Given the description of an element on the screen output the (x, y) to click on. 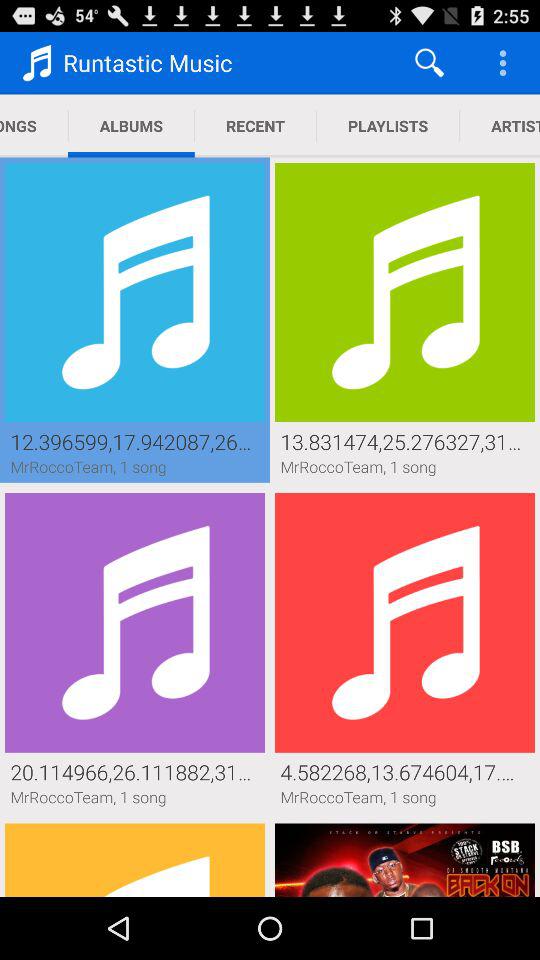
flip to the playlists item (387, 125)
